Given the description of an element on the screen output the (x, y) to click on. 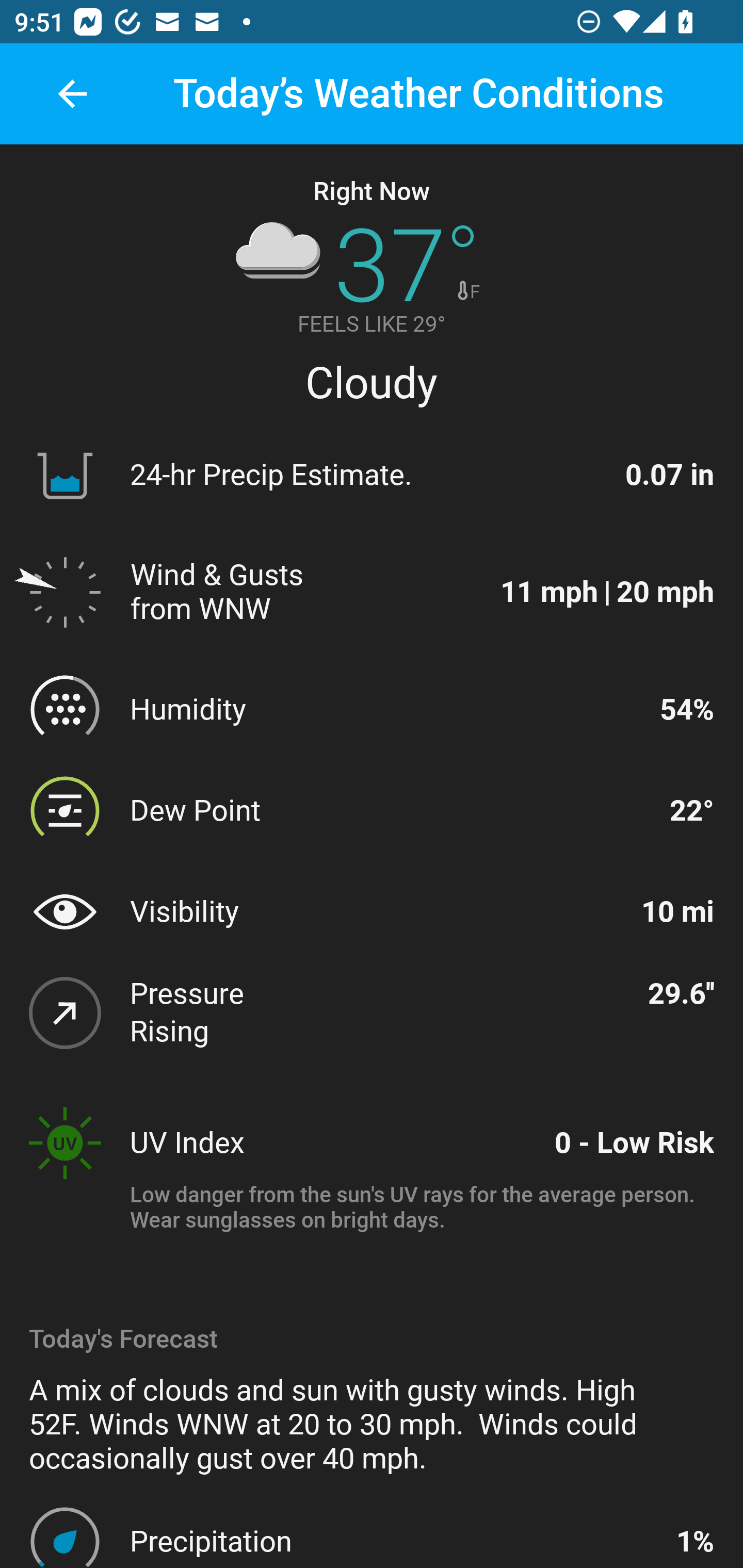
back (71, 93)
Precipitation (394, 1541)
1% (695, 1541)
